Given the description of an element on the screen output the (x, y) to click on. 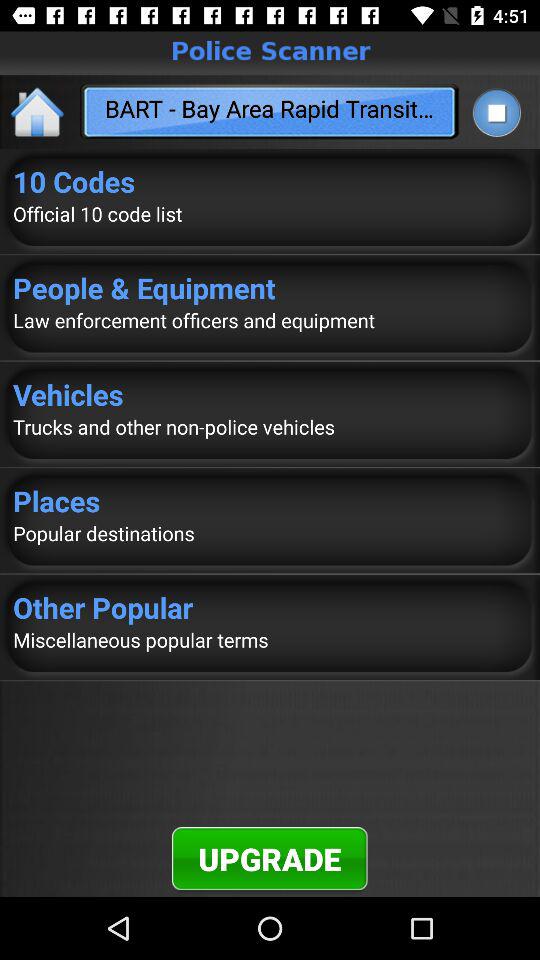
turn on upgrade item (269, 858)
